Given the description of an element on the screen output the (x, y) to click on. 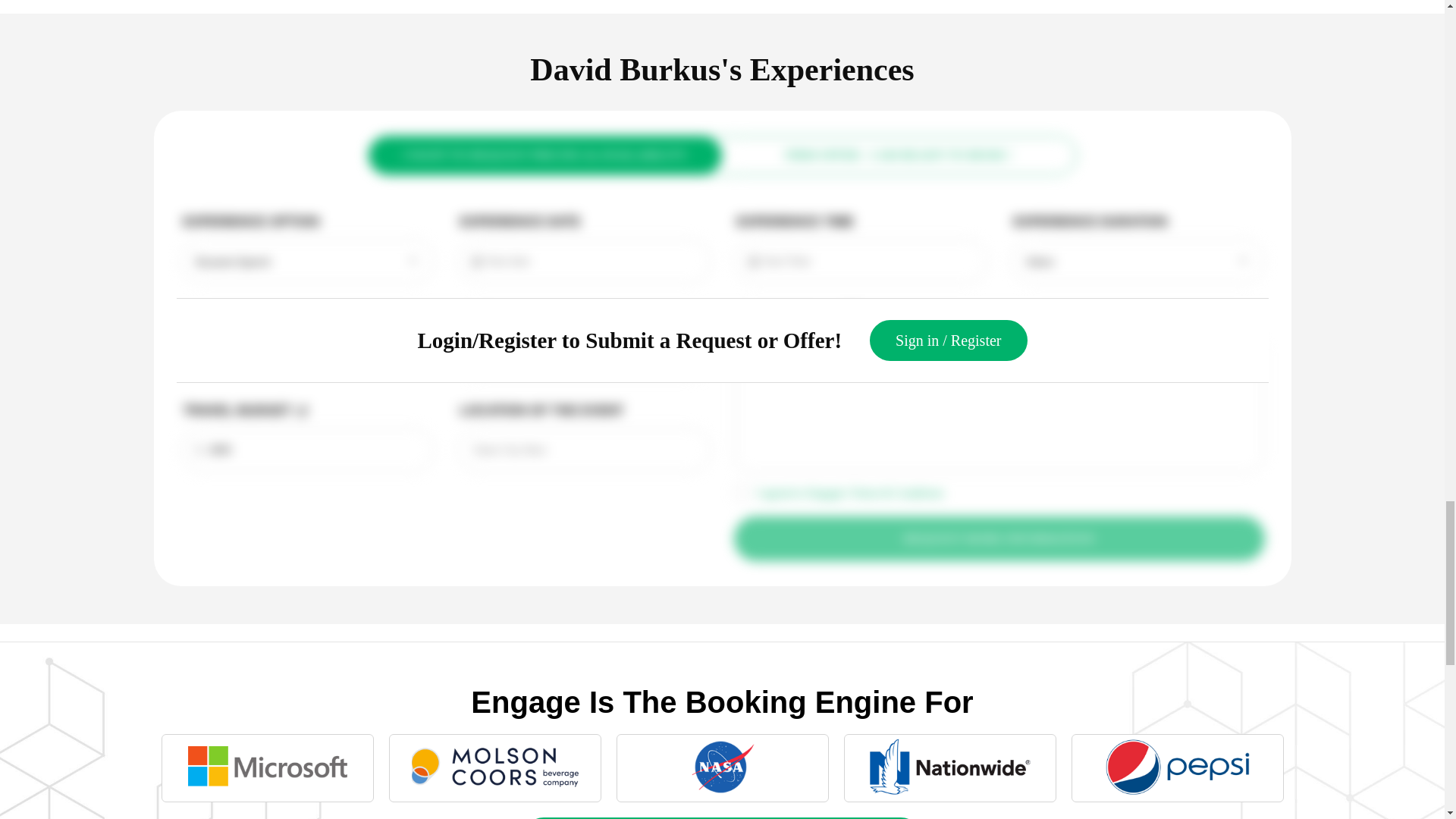
2000 (306, 449)
